Given the description of an element on the screen output the (x, y) to click on. 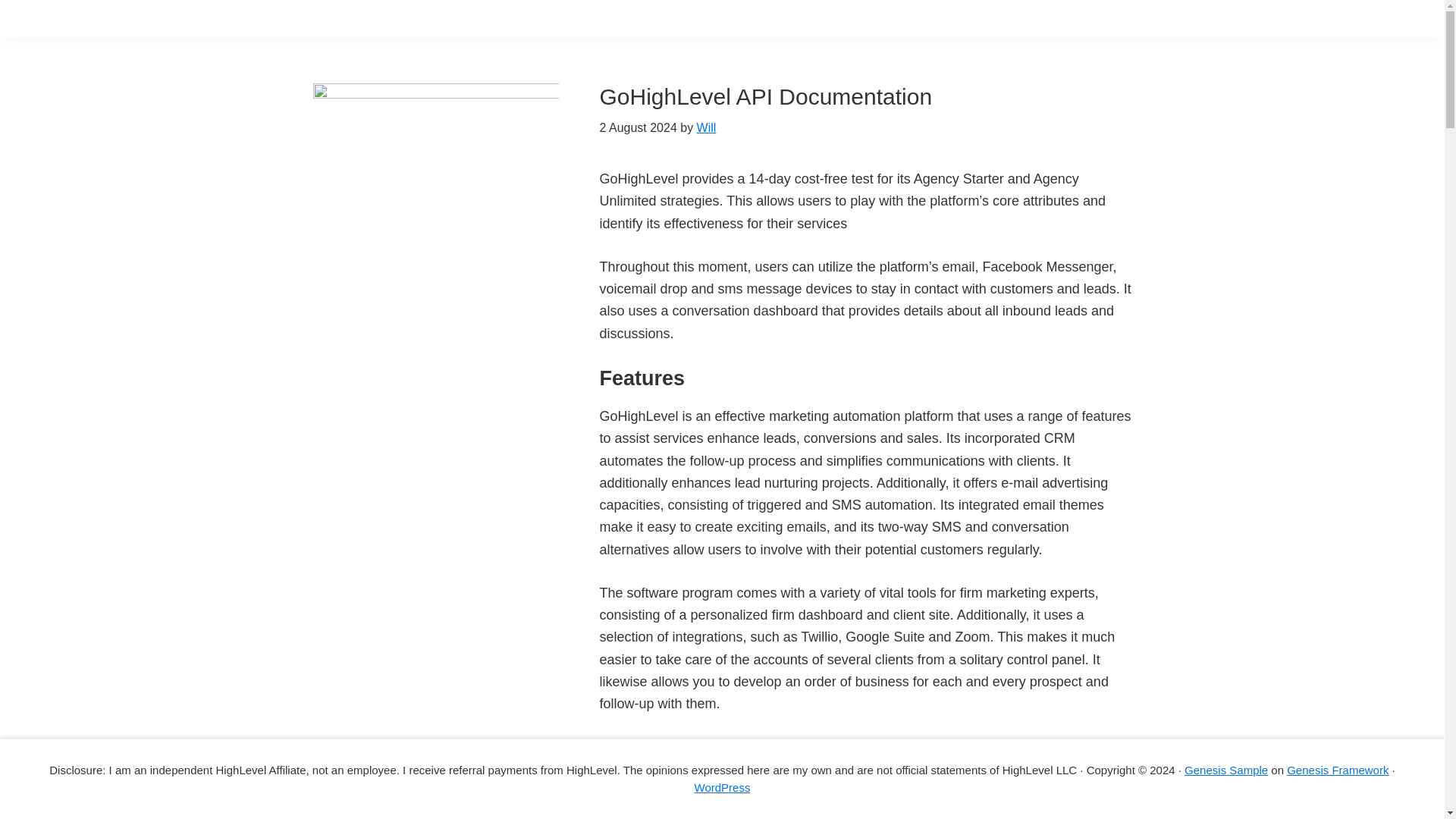
Genesis Sample (1226, 769)
Genesis Framework (1338, 769)
WordPress (722, 787)
Will (706, 127)
